Given the description of an element on the screen output the (x, y) to click on. 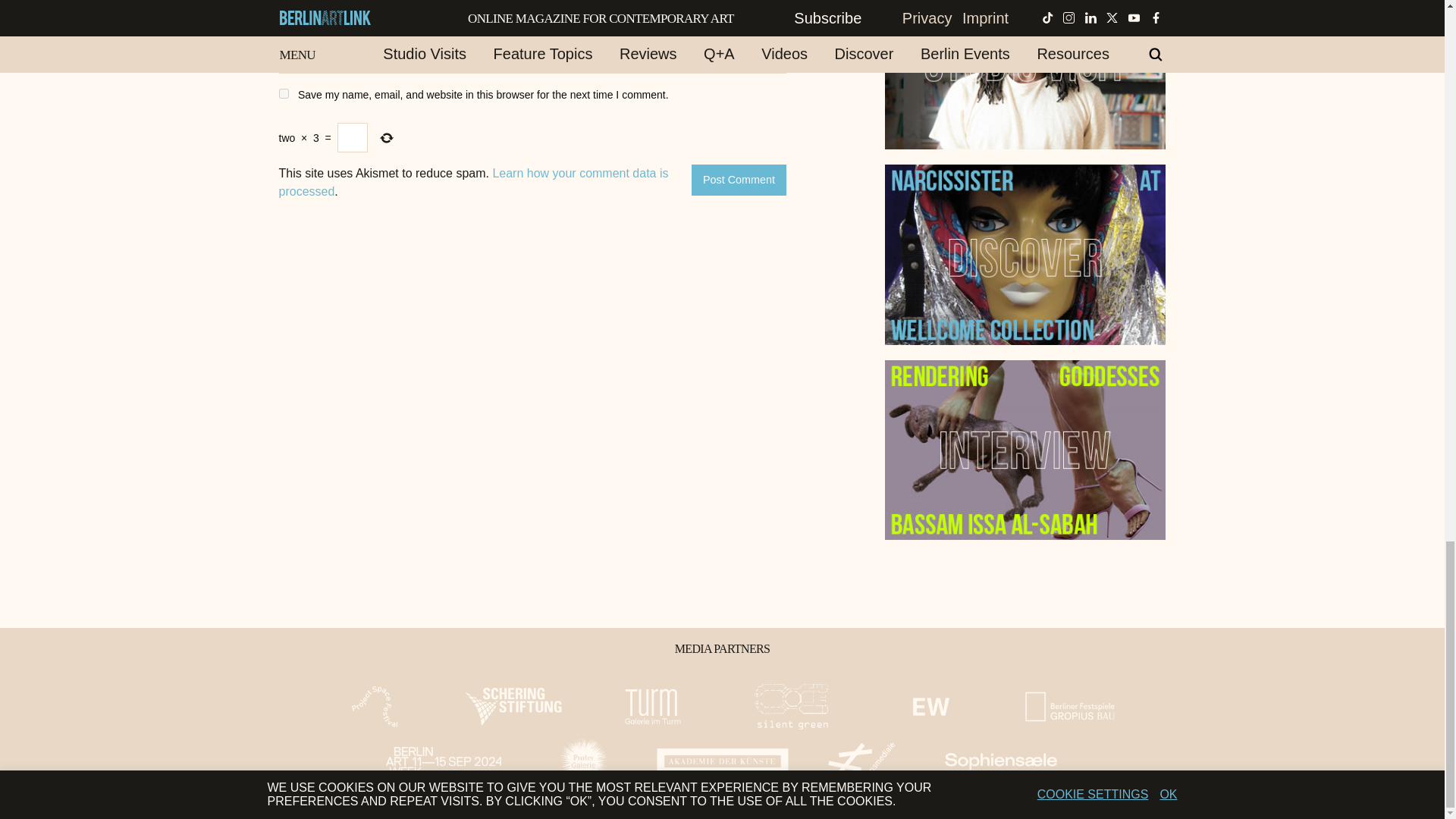
Post Comment (739, 179)
yes (283, 93)
